Given the description of an element on the screen output the (x, y) to click on. 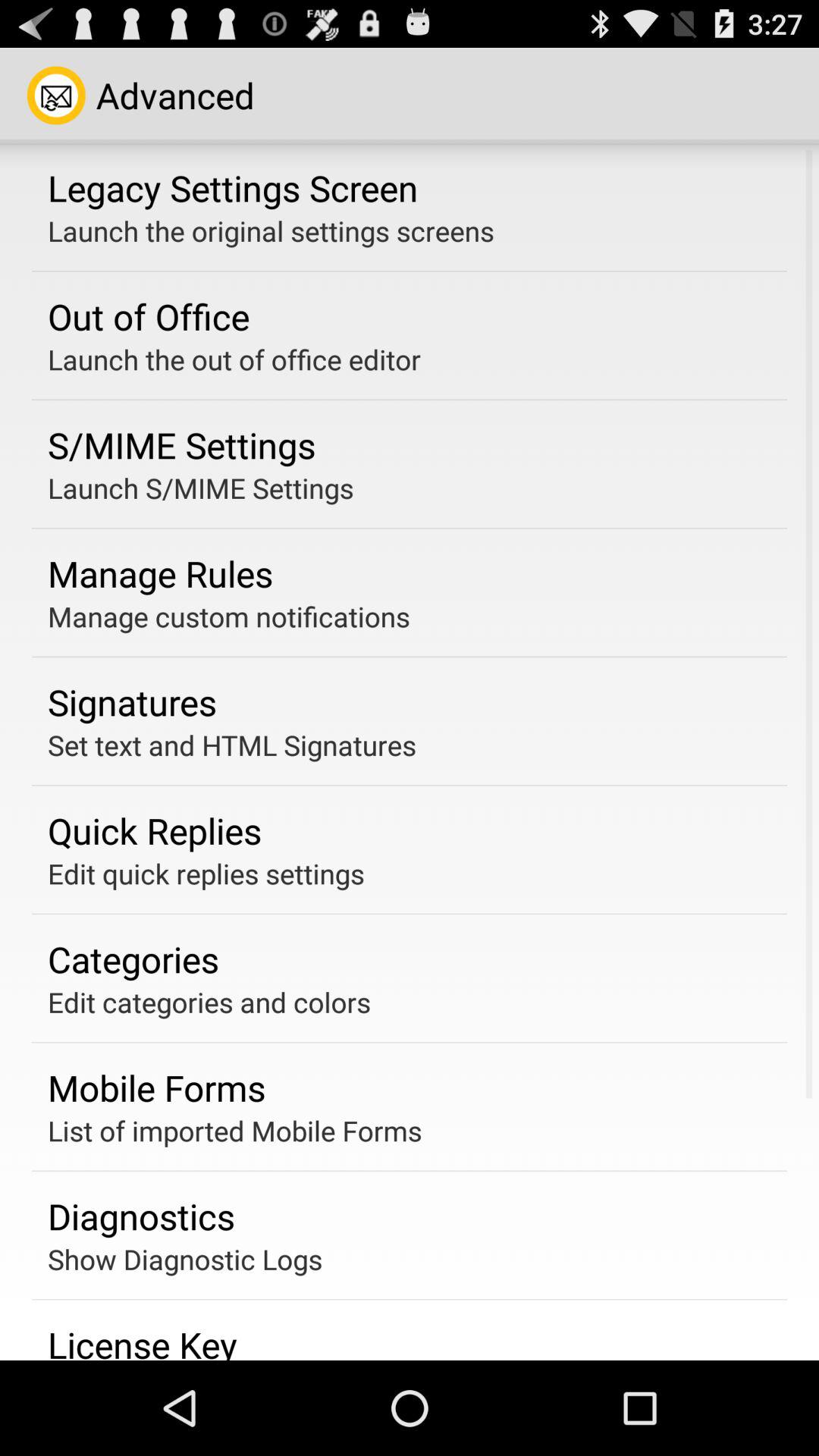
turn off app above diagnostics item (234, 1130)
